Given the description of an element on the screen output the (x, y) to click on. 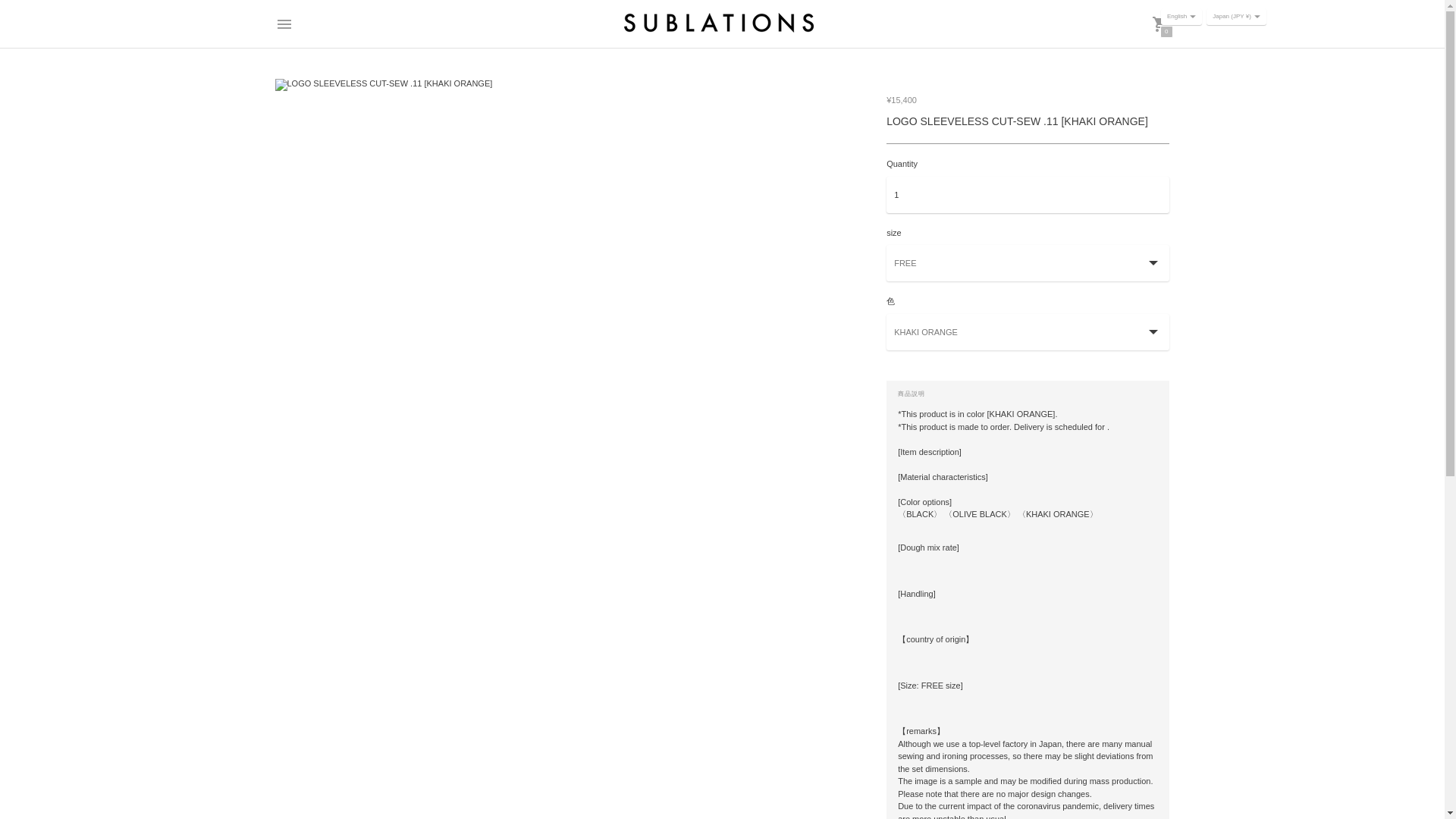
1 (1027, 194)
